Given the description of an element on the screen output the (x, y) to click on. 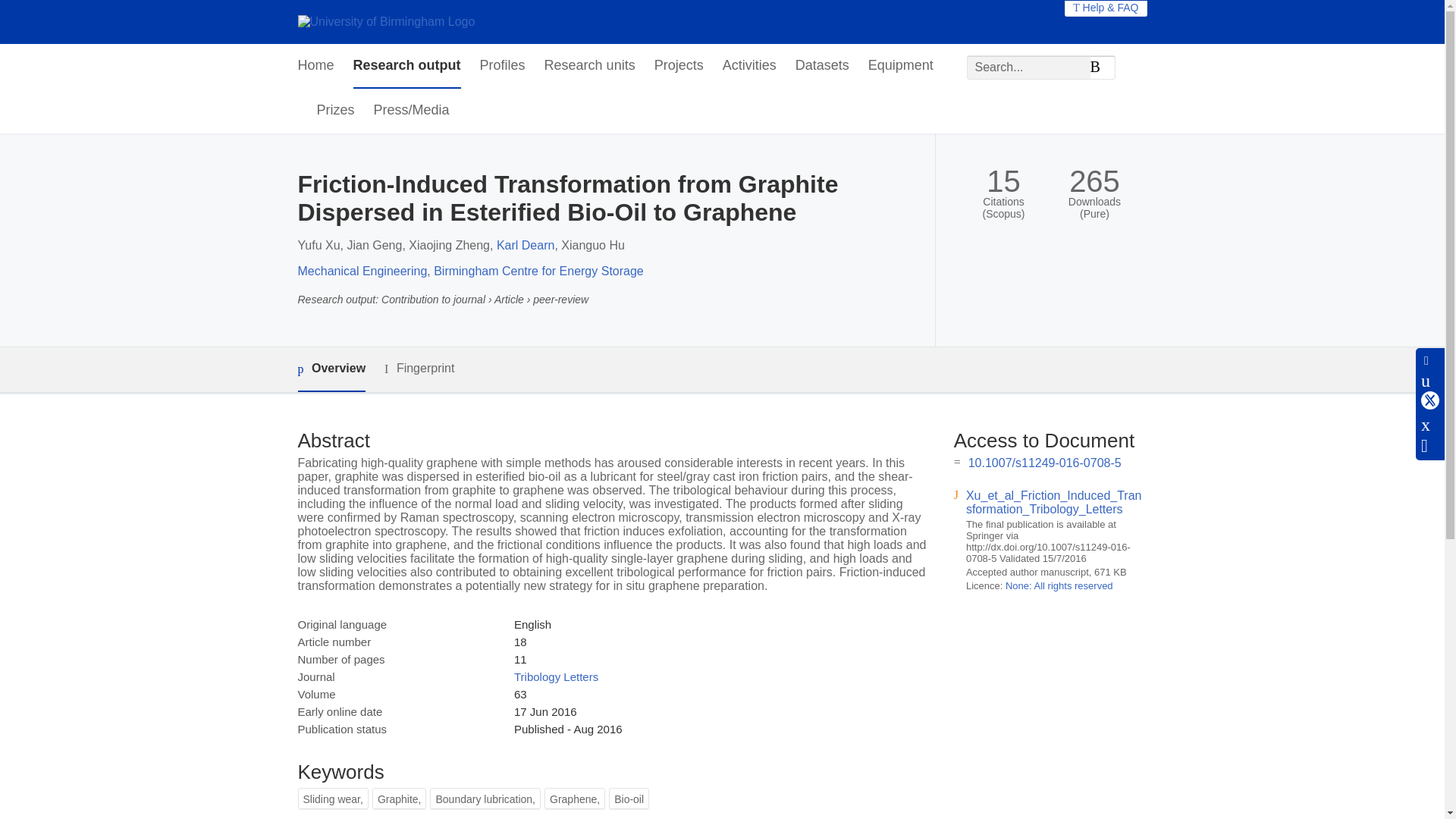
Activities (749, 66)
Research units (589, 66)
Overview (331, 369)
Tribology Letters (555, 676)
Birmingham Centre for Energy Storage (538, 270)
Profiles (502, 66)
Fingerprint (419, 368)
University of Birmingham Home (385, 21)
Equipment (900, 66)
